Given the description of an element on the screen output the (x, y) to click on. 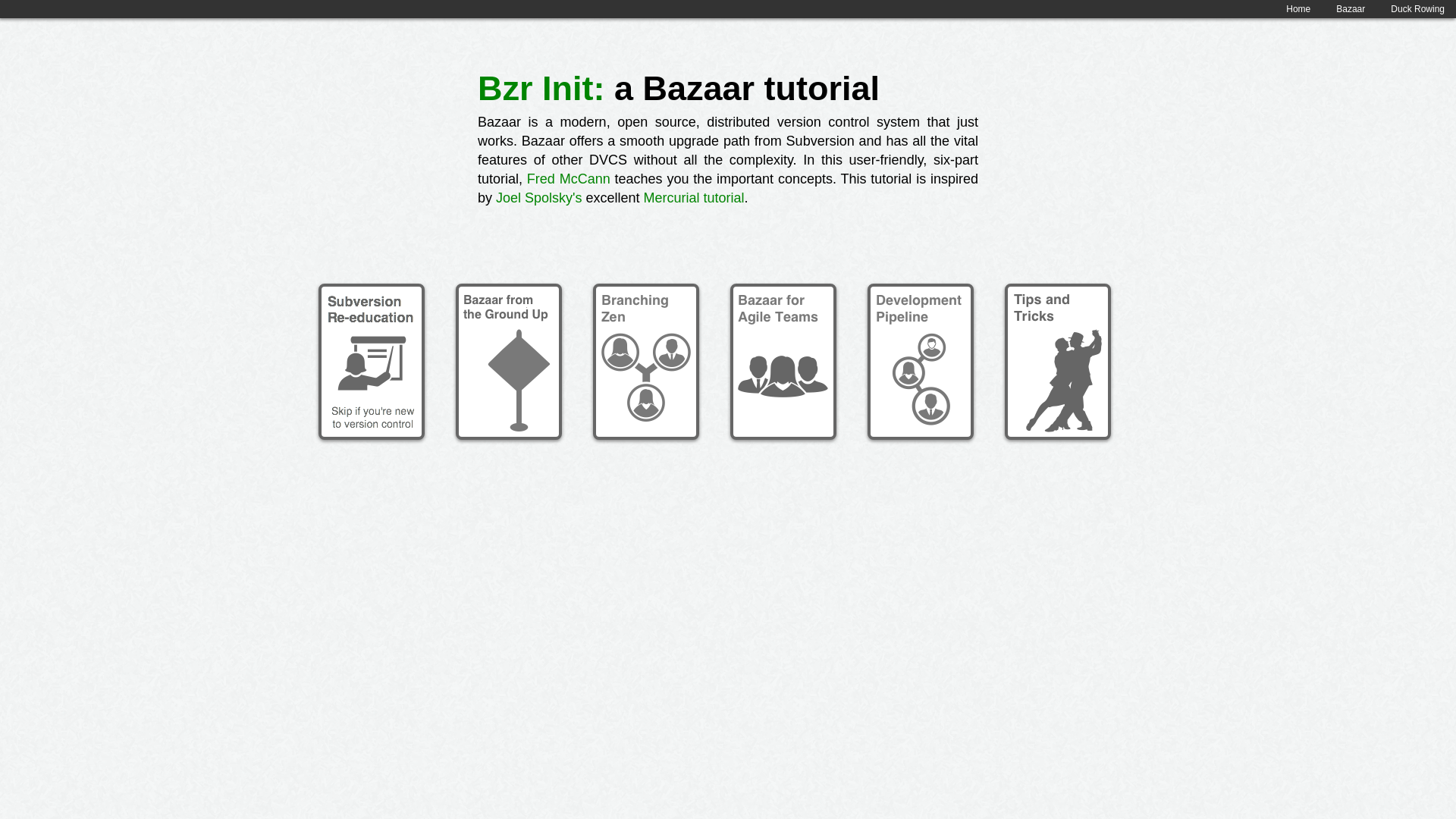
Joel Spolsky's (538, 197)
Duck Rowing (1417, 9)
Mercurial tutorial (693, 197)
Fred McCann (568, 178)
Home (1297, 9)
Bazaar (1350, 9)
